Given the description of an element on the screen output the (x, y) to click on. 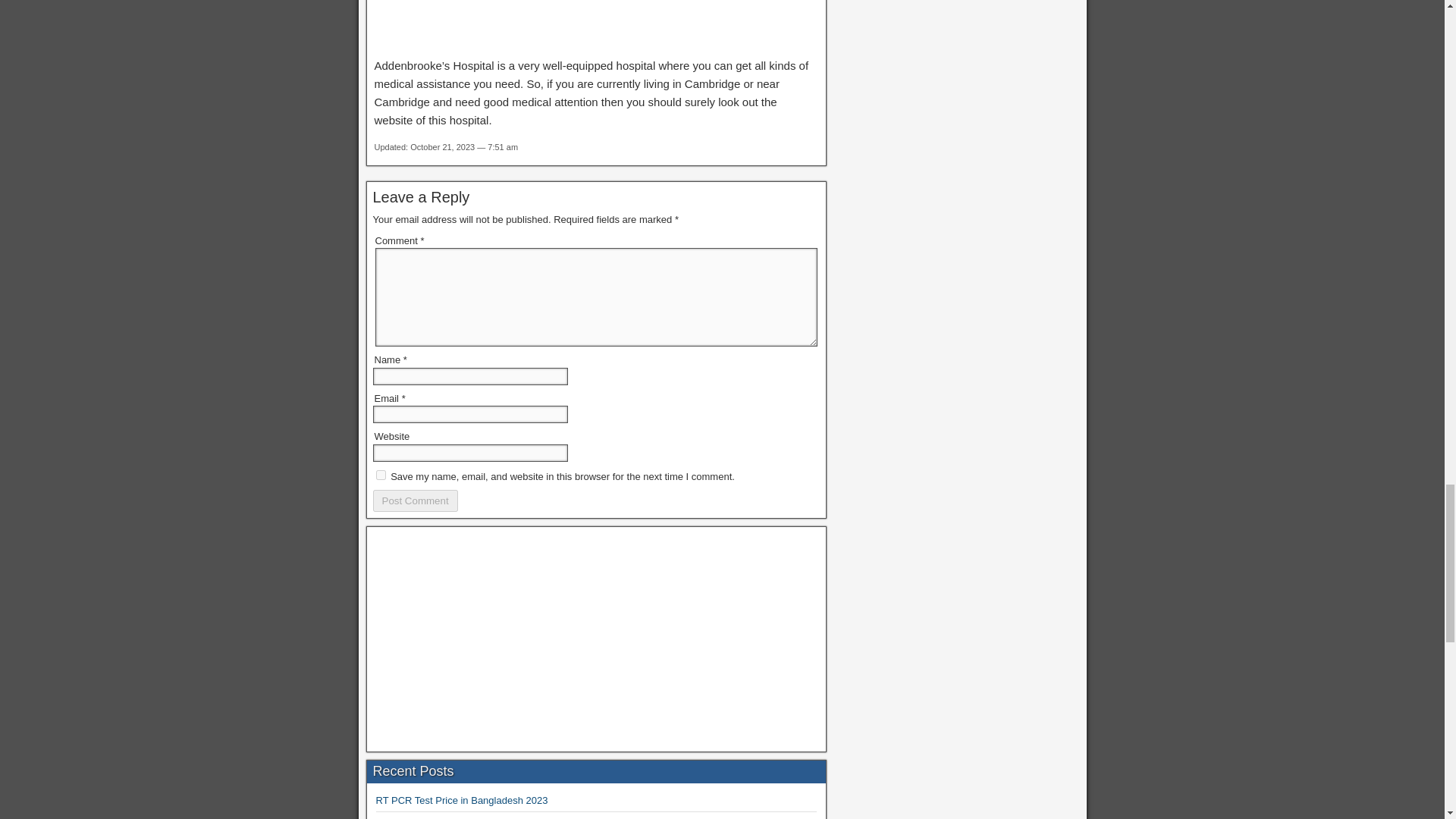
Post Comment (415, 500)
yes (380, 474)
RT PCR Test Price in Bangladesh 2023 (461, 799)
Post Comment (415, 500)
